Given the description of an element on the screen output the (x, y) to click on. 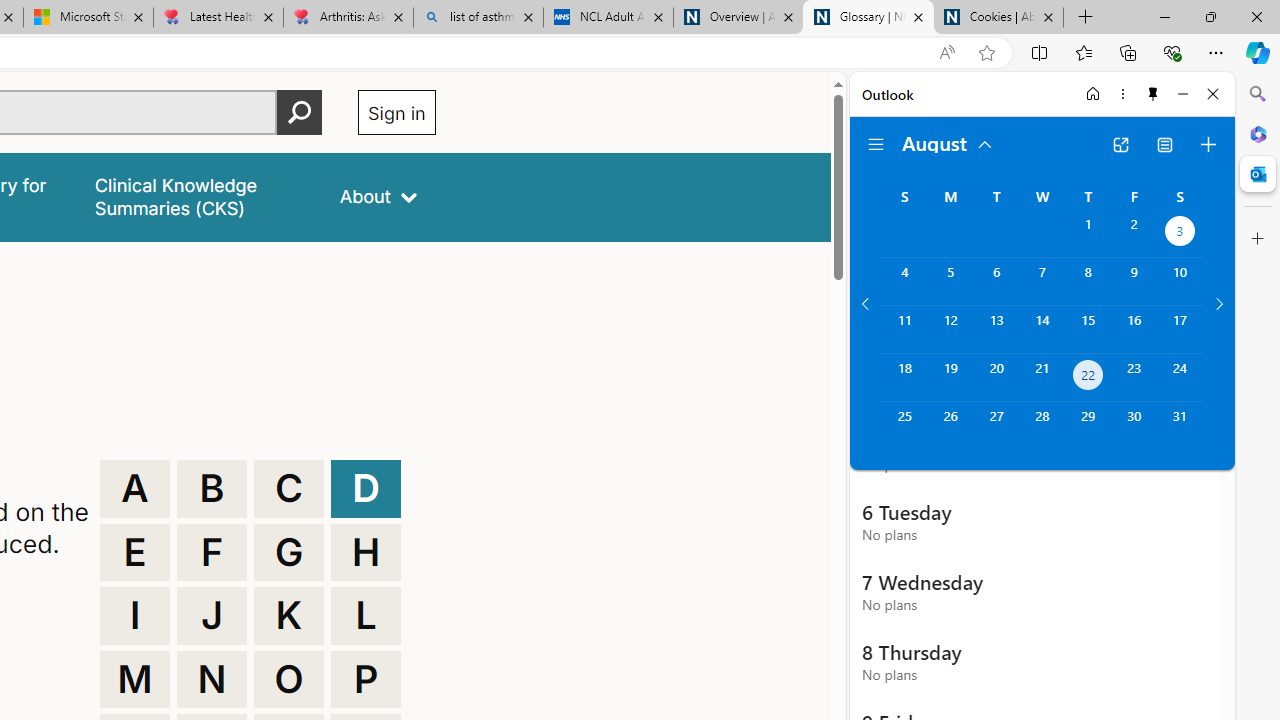
Glossary | NICE (868, 17)
C (289, 488)
J (212, 615)
N (212, 679)
Copilot (Ctrl+Shift+.) (1258, 52)
Monday, August 19, 2024.  (950, 377)
Cookies | About | NICE (998, 17)
A (134, 488)
K (289, 615)
G (289, 551)
H (365, 551)
I (134, 615)
I (134, 615)
